Given the description of an element on the screen output the (x, y) to click on. 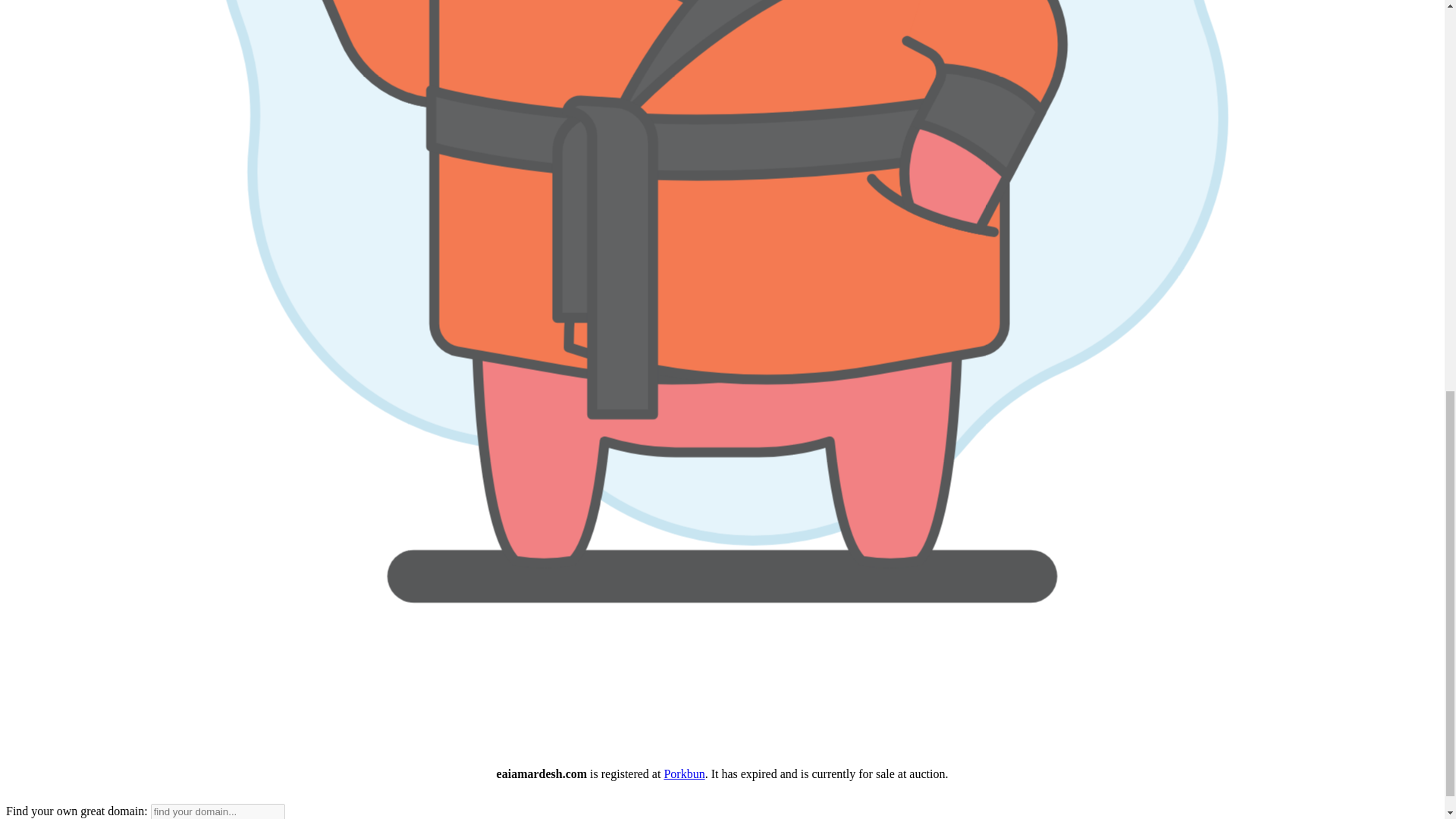
Porkbun (683, 773)
